Given the description of an element on the screen output the (x, y) to click on. 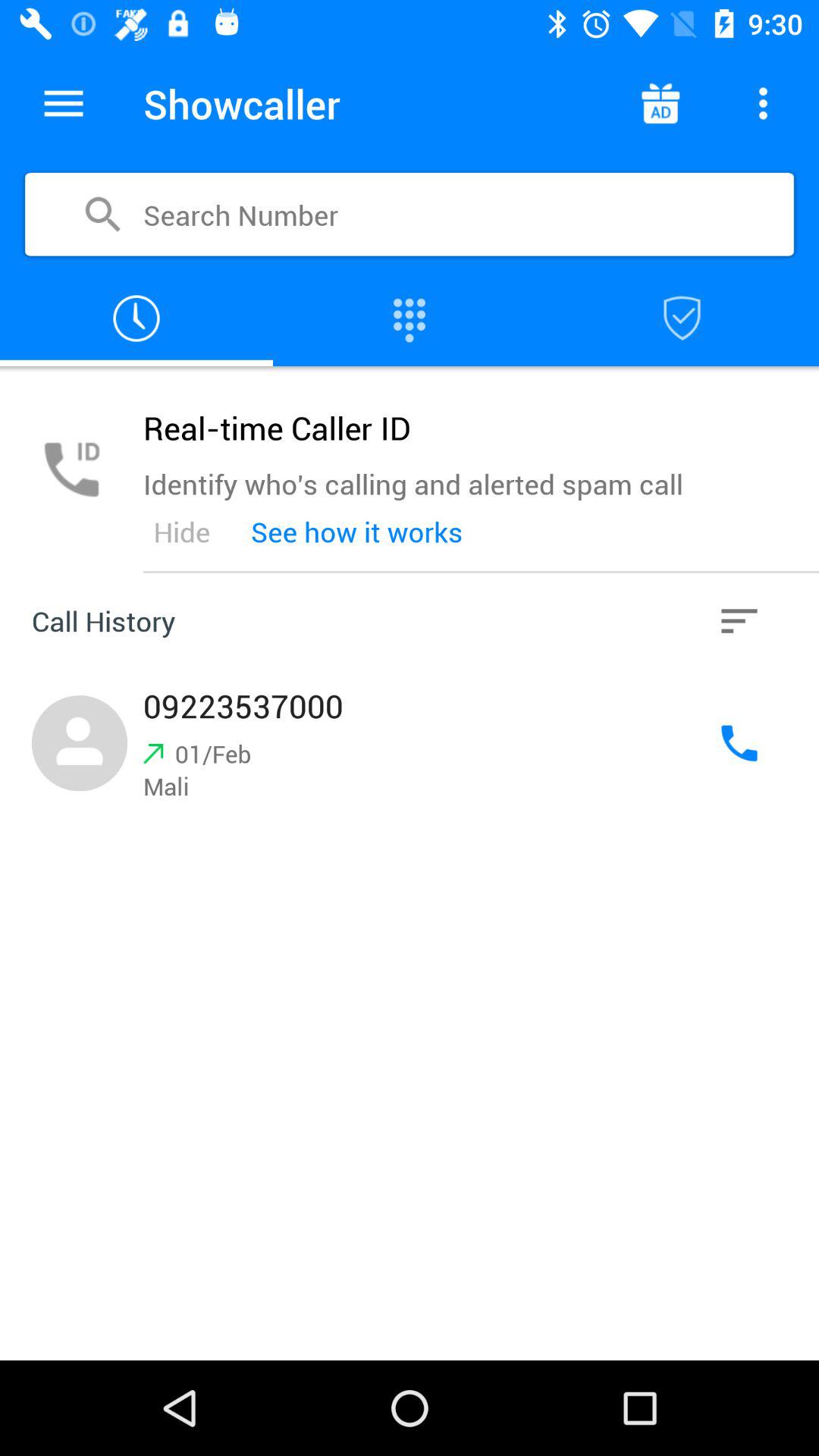
bring up the menu (63, 103)
